Given the description of an element on the screen output the (x, y) to click on. 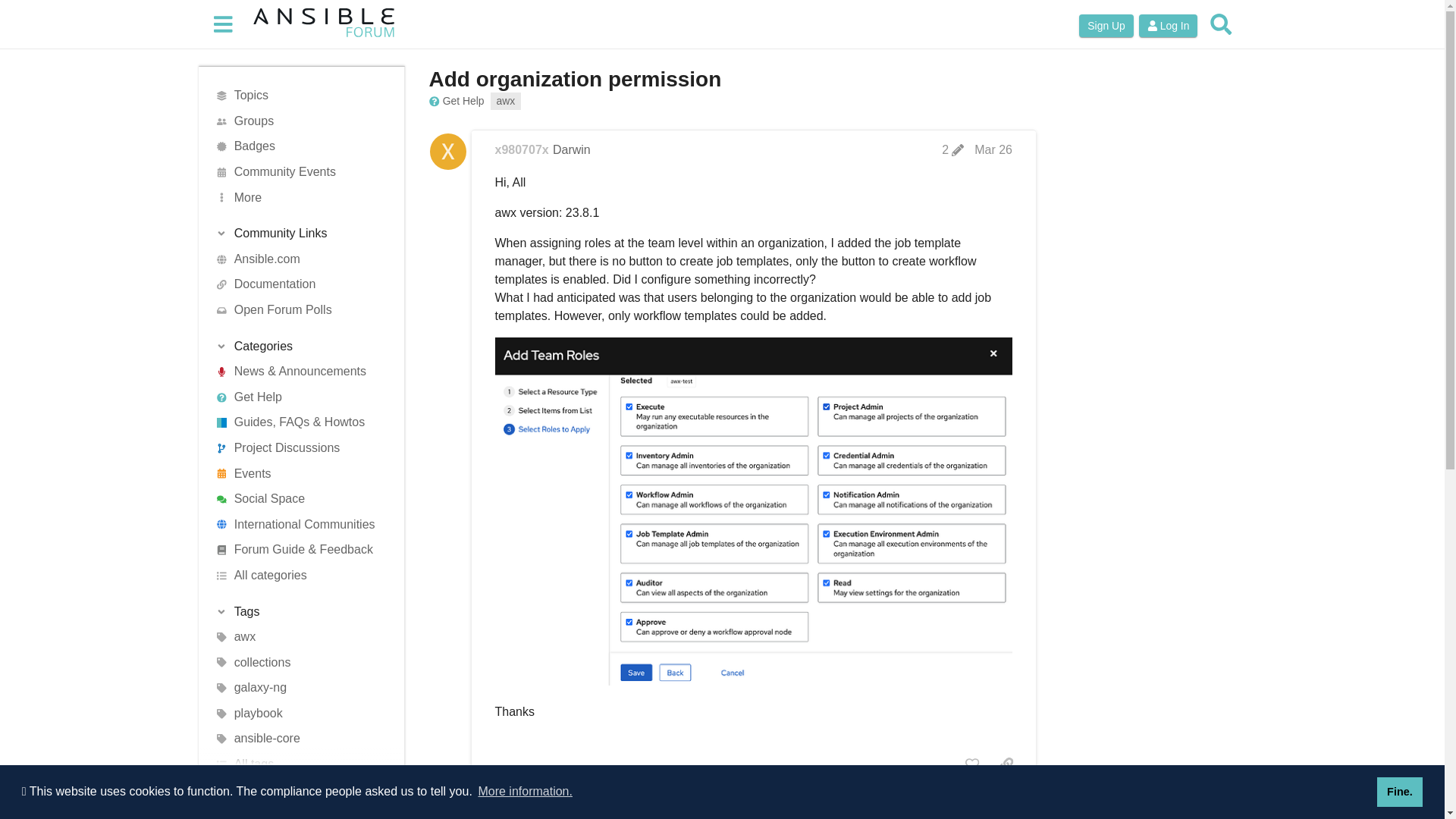
Project Discussions (295, 447)
Topics (295, 95)
Toggle section (295, 234)
Community Events (295, 171)
Toggle section (295, 346)
All topics (295, 95)
Fine. (1400, 791)
Groups (295, 121)
galaxy-ng (295, 688)
Social Space (295, 499)
ansible-core (295, 739)
Search (1220, 23)
Open Forum Polls (295, 309)
Get Help (456, 101)
